Given the description of an element on the screen output the (x, y) to click on. 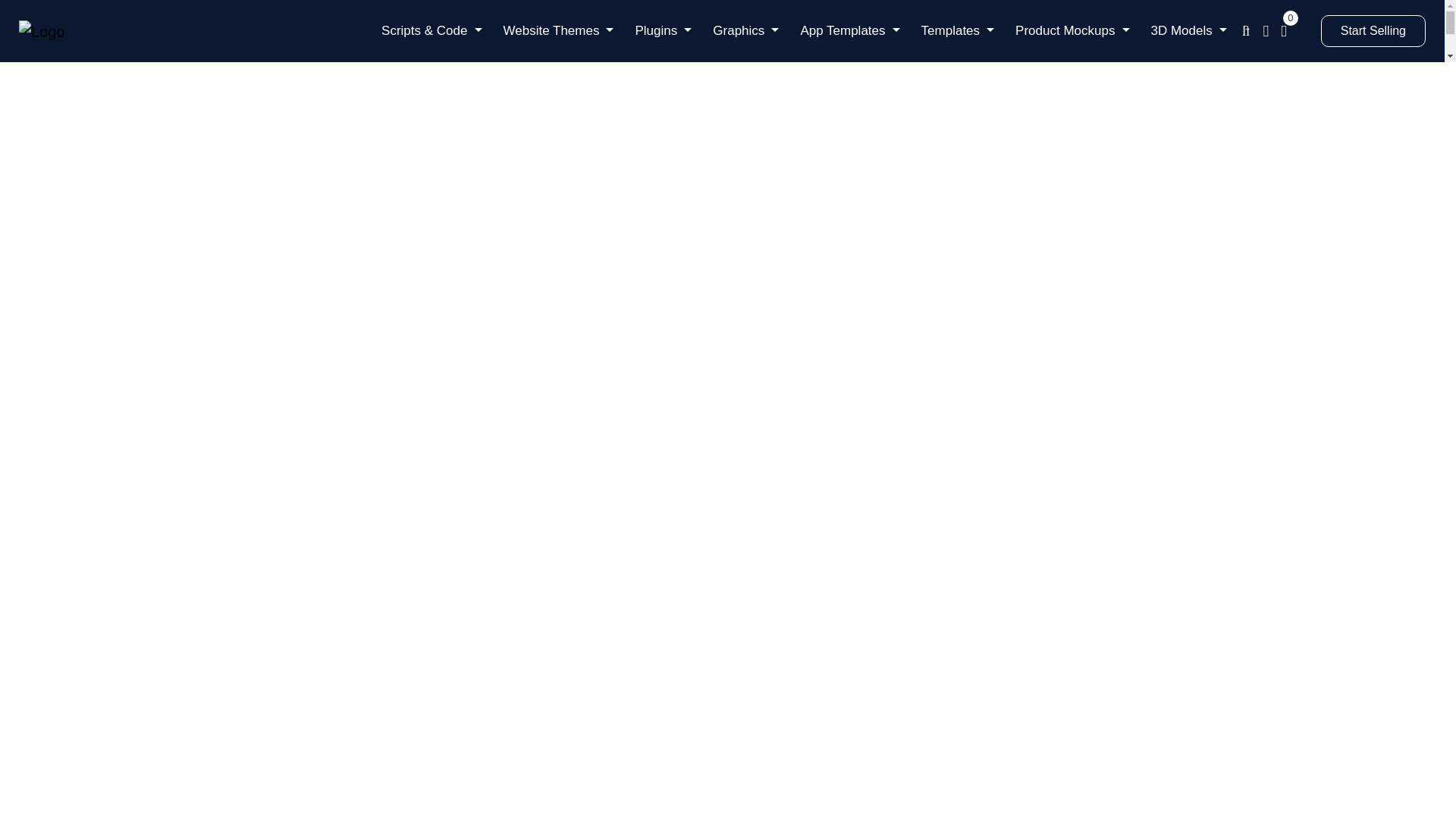
Graphics (745, 30)
Plugins (662, 30)
Website Themes (558, 30)
Plugincity (41, 31)
